Given the description of an element on the screen output the (x, y) to click on. 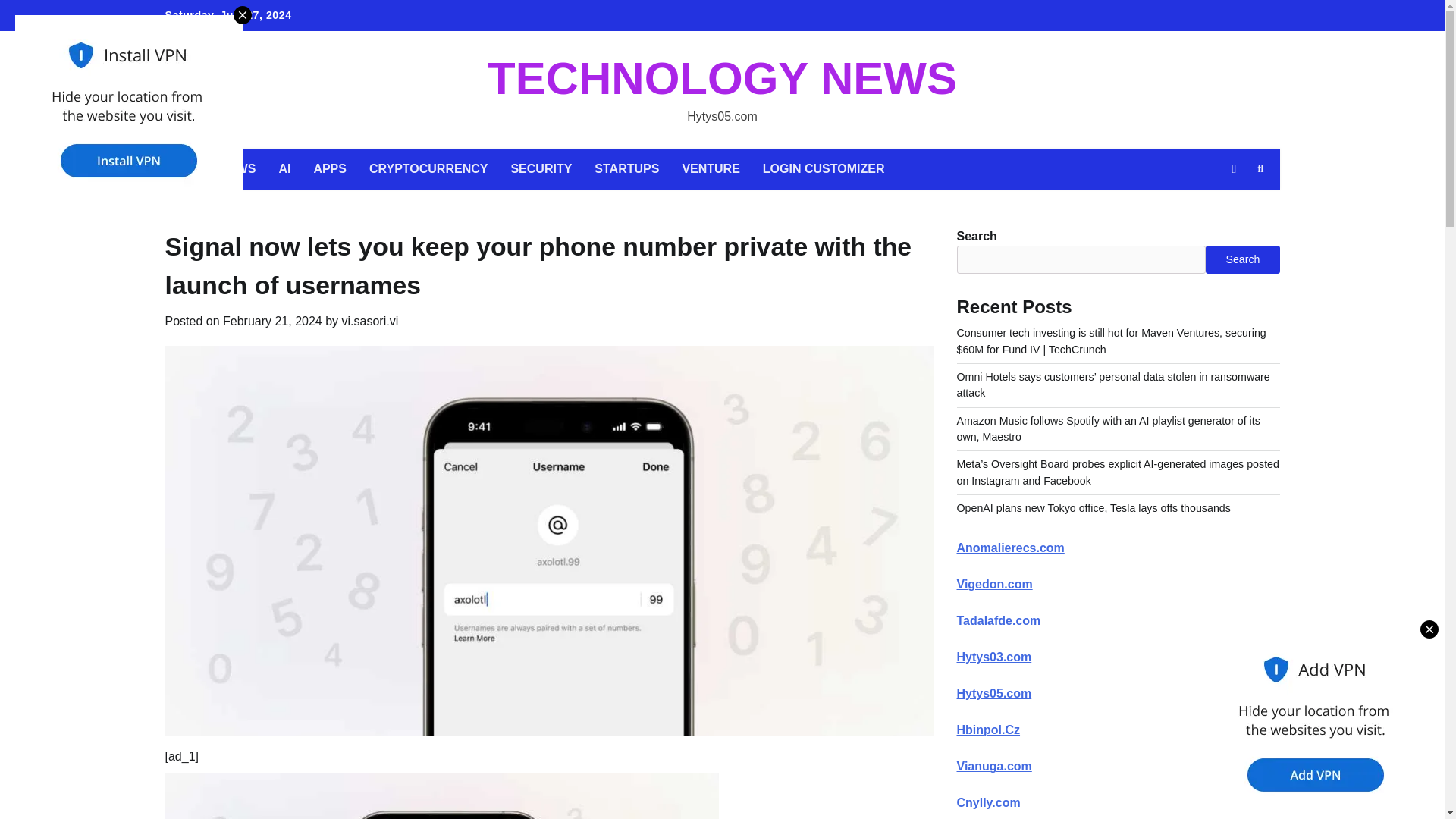
Search (1260, 169)
vi.sasori.vi (370, 320)
Least News (1041, 15)
STARTUPS (626, 168)
AI (1073, 15)
Login Customizer (1264, 15)
LOGIN CUSTOMIZER (823, 168)
Venture (1232, 15)
Security (1169, 15)
TECHNOLOGY NEWS (721, 78)
Apps (1105, 15)
APPS (329, 168)
Cryptocurrency (1137, 15)
Startups (1200, 15)
CRYPTOCURRENCY (428, 168)
